Given the description of an element on the screen output the (x, y) to click on. 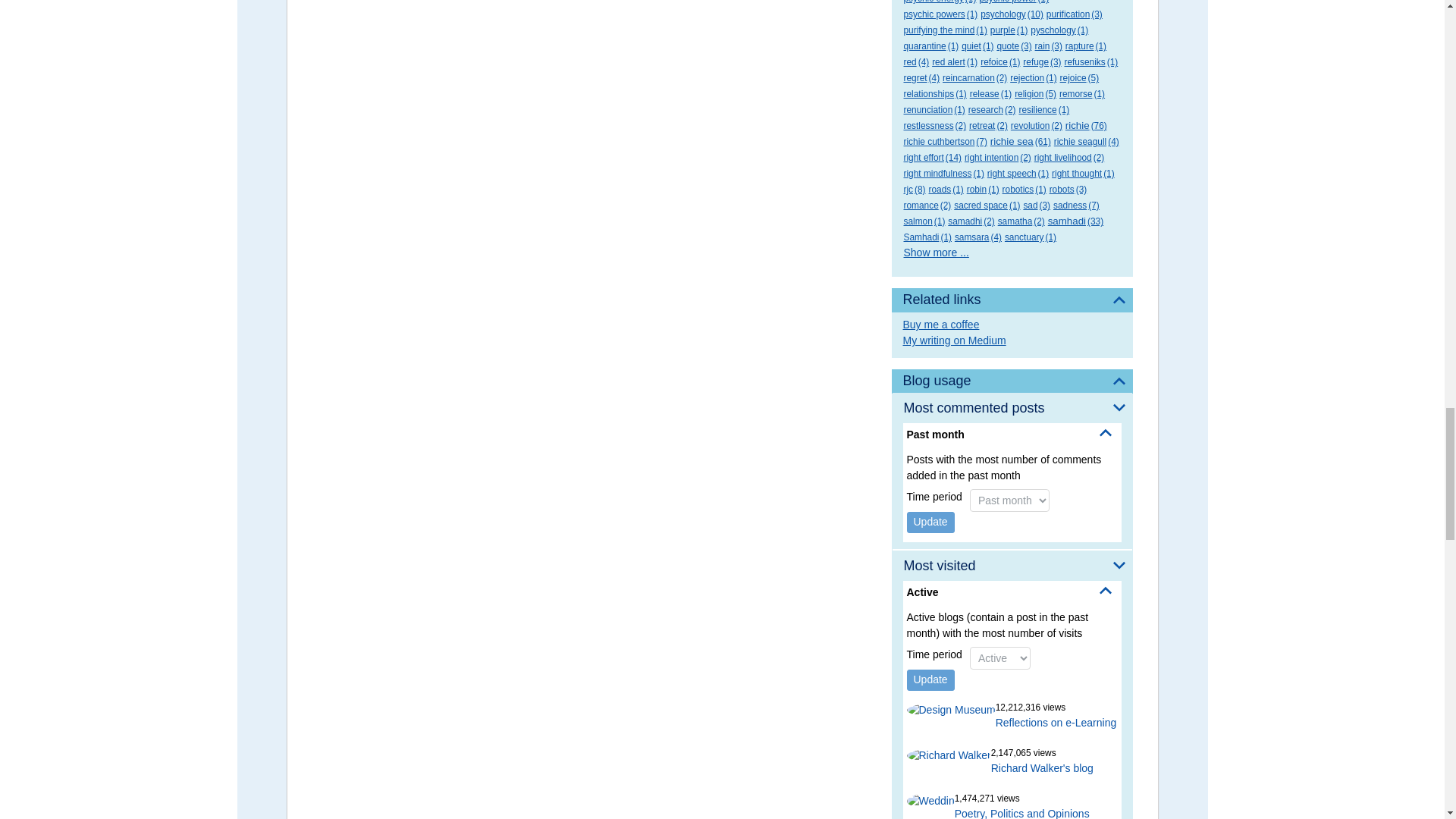
Blog usage (1011, 381)
Update (931, 522)
Related links (1011, 300)
Hide options (1105, 590)
Hide options (1105, 432)
Update (931, 680)
